Given the description of an element on the screen output the (x, y) to click on. 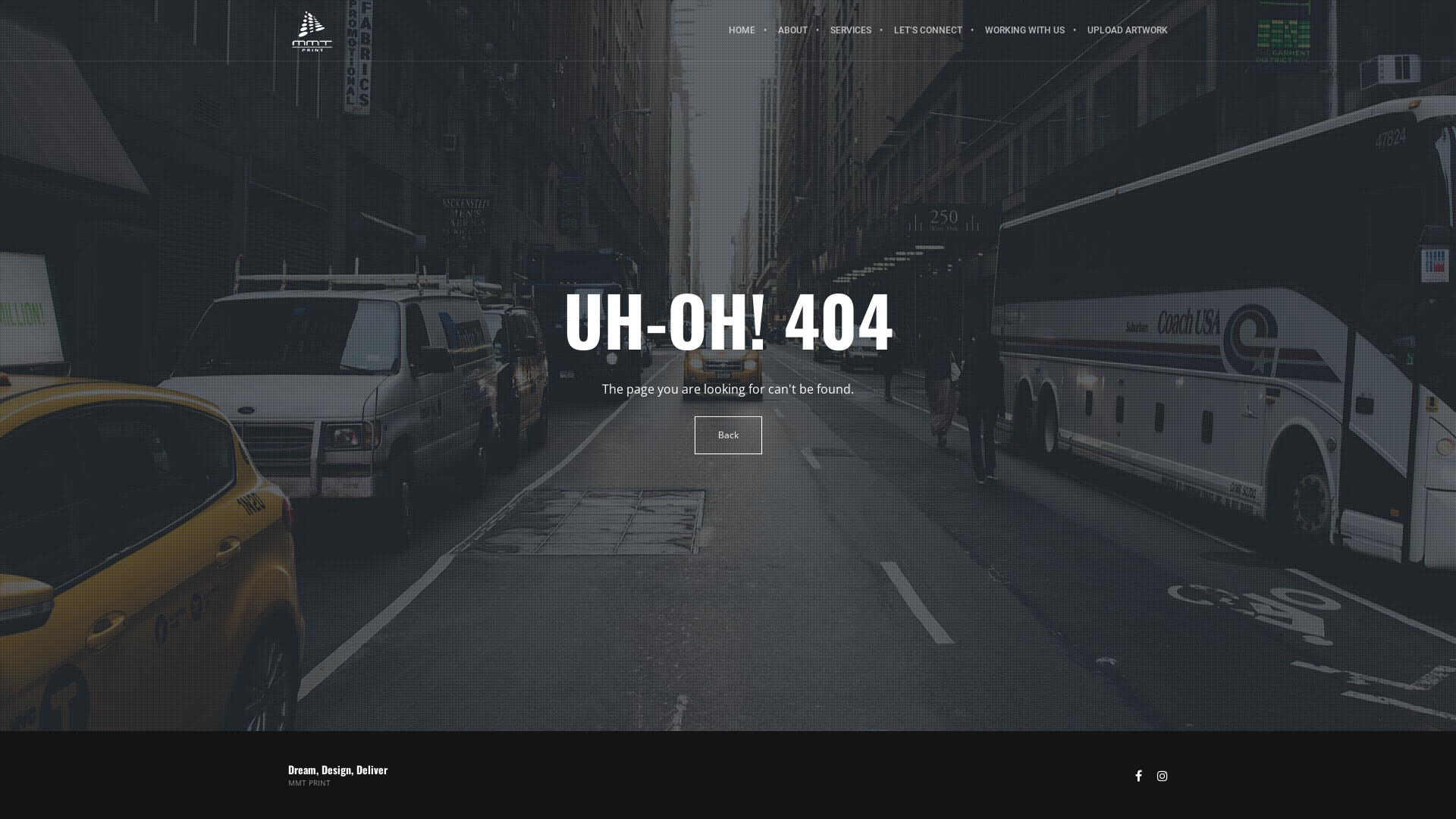
ABOUT Element type: text (792, 30)
HOME Element type: text (741, 30)
Back Element type: text (728, 435)
WORKING WITH US Element type: text (1024, 30)
SERVICES Element type: text (850, 30)
UPLOAD ARTWORK Element type: text (1121, 30)
